Given the description of an element on the screen output the (x, y) to click on. 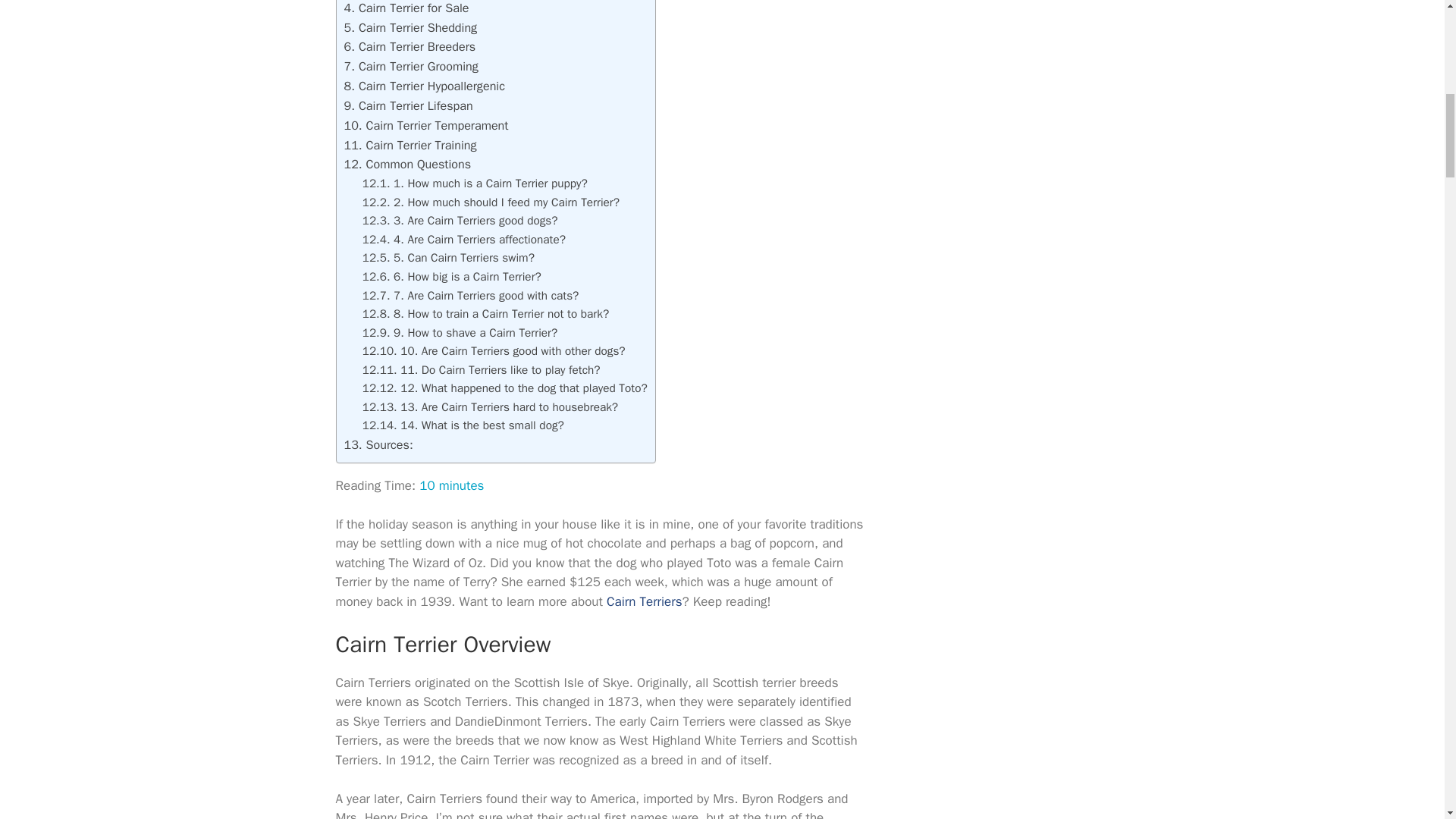
Cairn Terrier Temperament (425, 125)
Cairn Terrier Breeders (409, 46)
Cairn Terrier Shedding (410, 27)
Cairn Terrier Breeders (409, 46)
Cairn Terrier Hypoallergenic (424, 85)
Cairn Terrier Grooming (411, 66)
Cairn Terrier Training (410, 145)
1. How much is a Cairn Terrier puppy? (475, 183)
Cairn Terrier for Sale (405, 7)
Common Questions (407, 163)
